Given the description of an element on the screen output the (x, y) to click on. 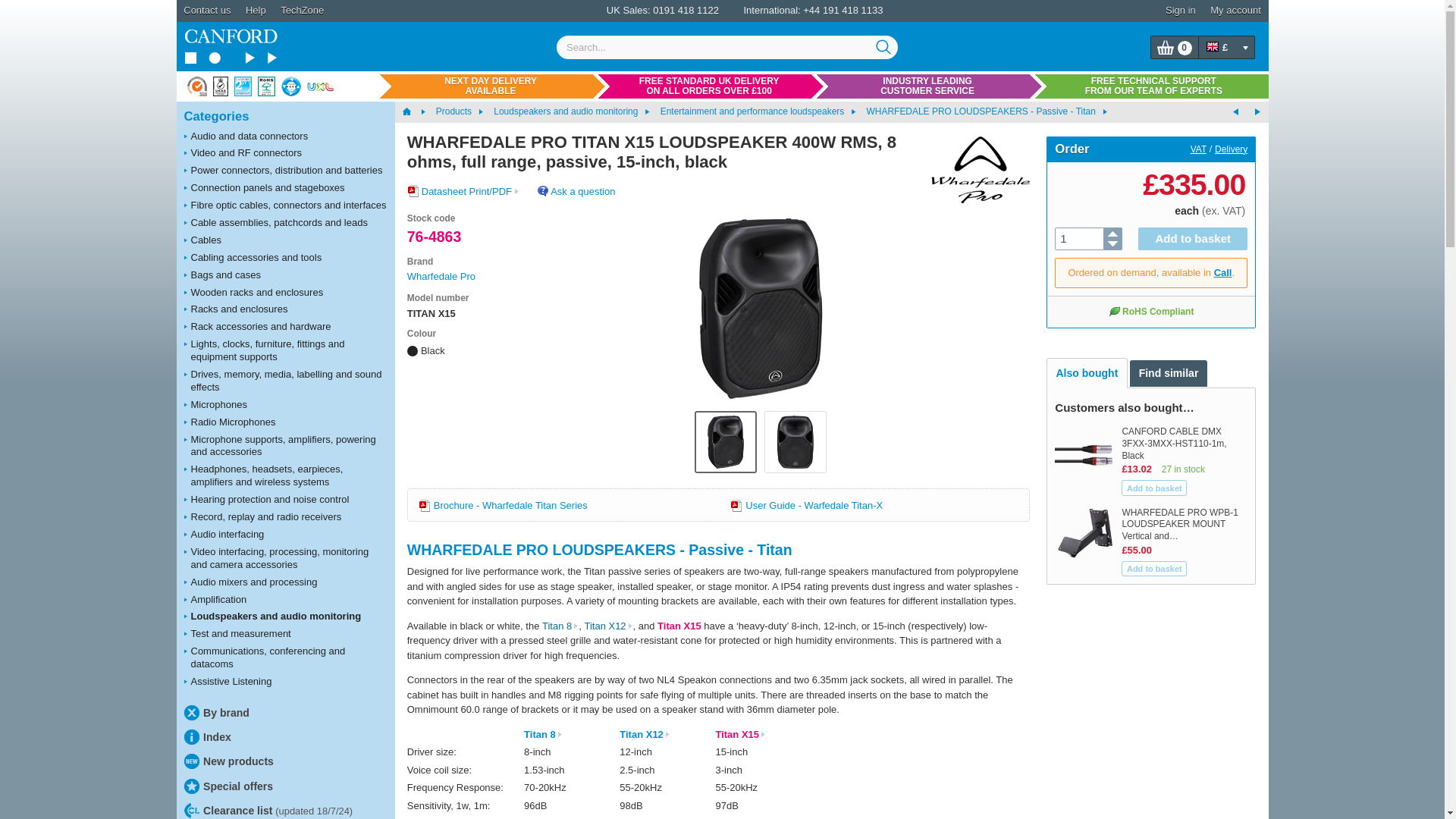
My account (1236, 11)
Add to basket (1153, 487)
International: (770, 9)
TechZone (302, 11)
Cabling accessories and tools (285, 257)
Video and RF connectors (285, 153)
Lights, clocks, furniture, fittings and equipment supports (285, 350)
Sign in (1179, 11)
Contact us (207, 11)
Wharfedale Pro (974, 169)
Connection panels and stageboxes (285, 188)
Help (255, 11)
Brochure - Wharfedale Titan Series (503, 505)
